Given the description of an element on the screen output the (x, y) to click on. 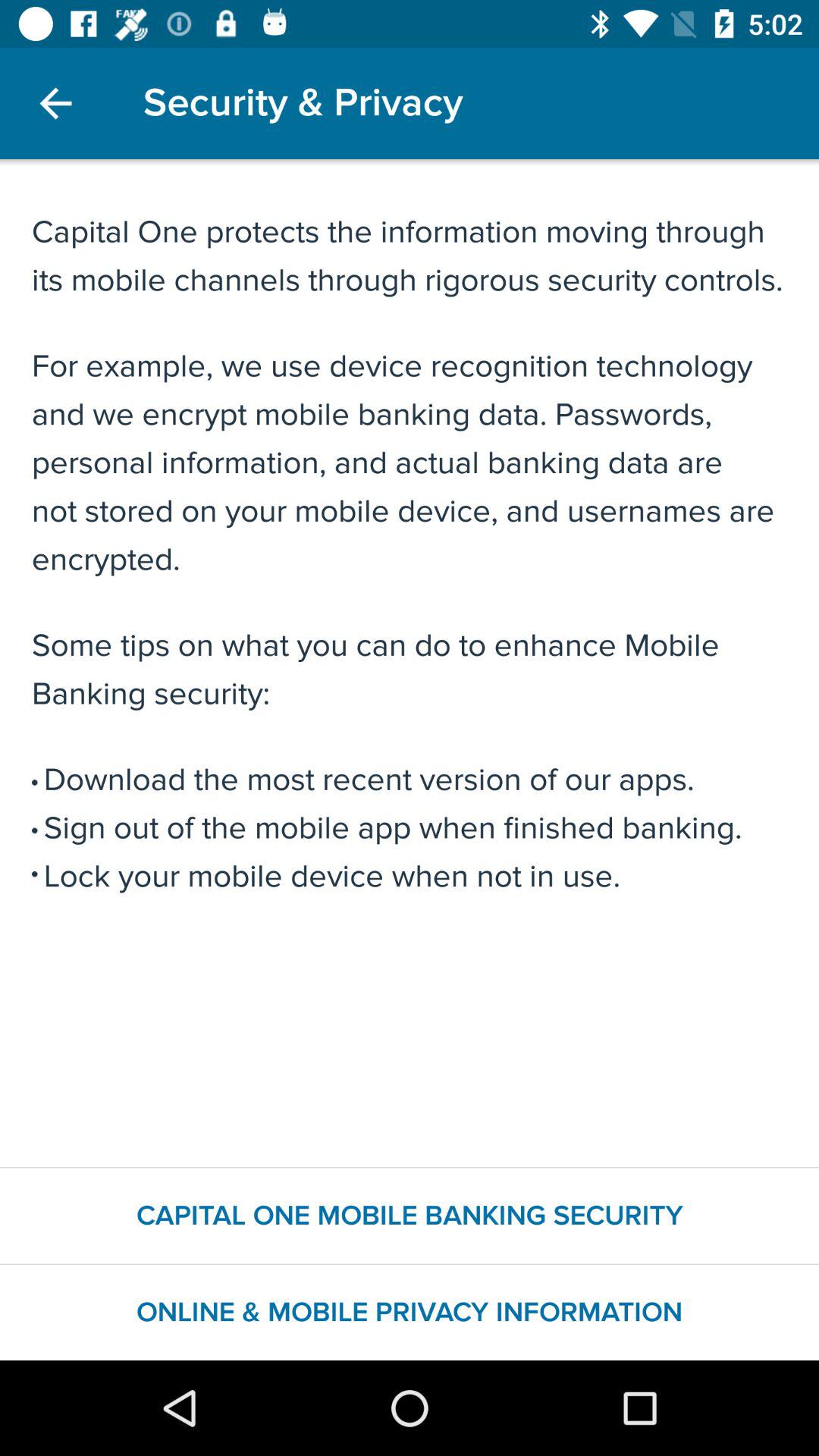
flip until online mobile privacy icon (409, 1312)
